Given the description of an element on the screen output the (x, y) to click on. 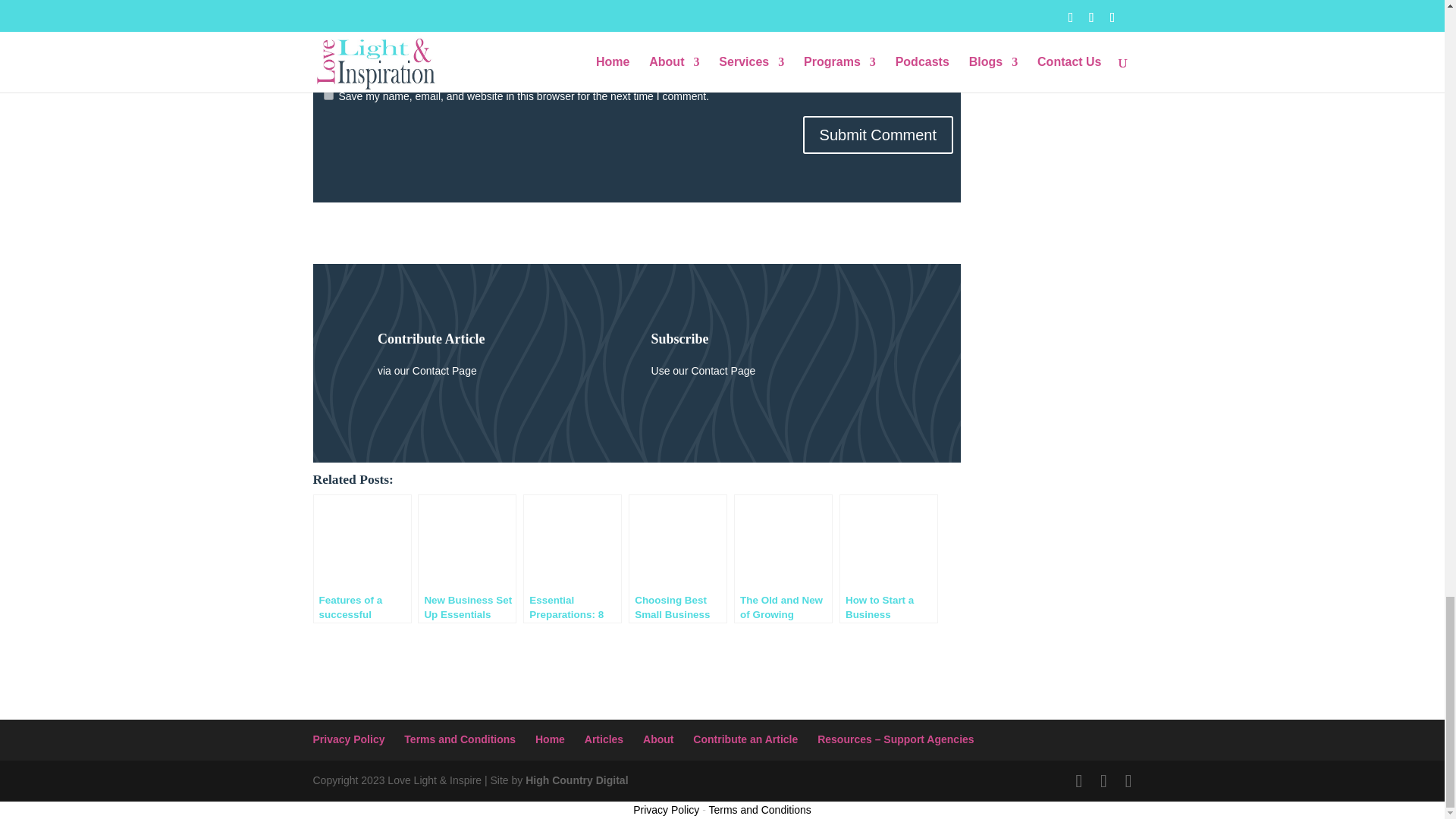
Contact Us (702, 370)
yes (328, 94)
